Given the description of an element on the screen output the (x, y) to click on. 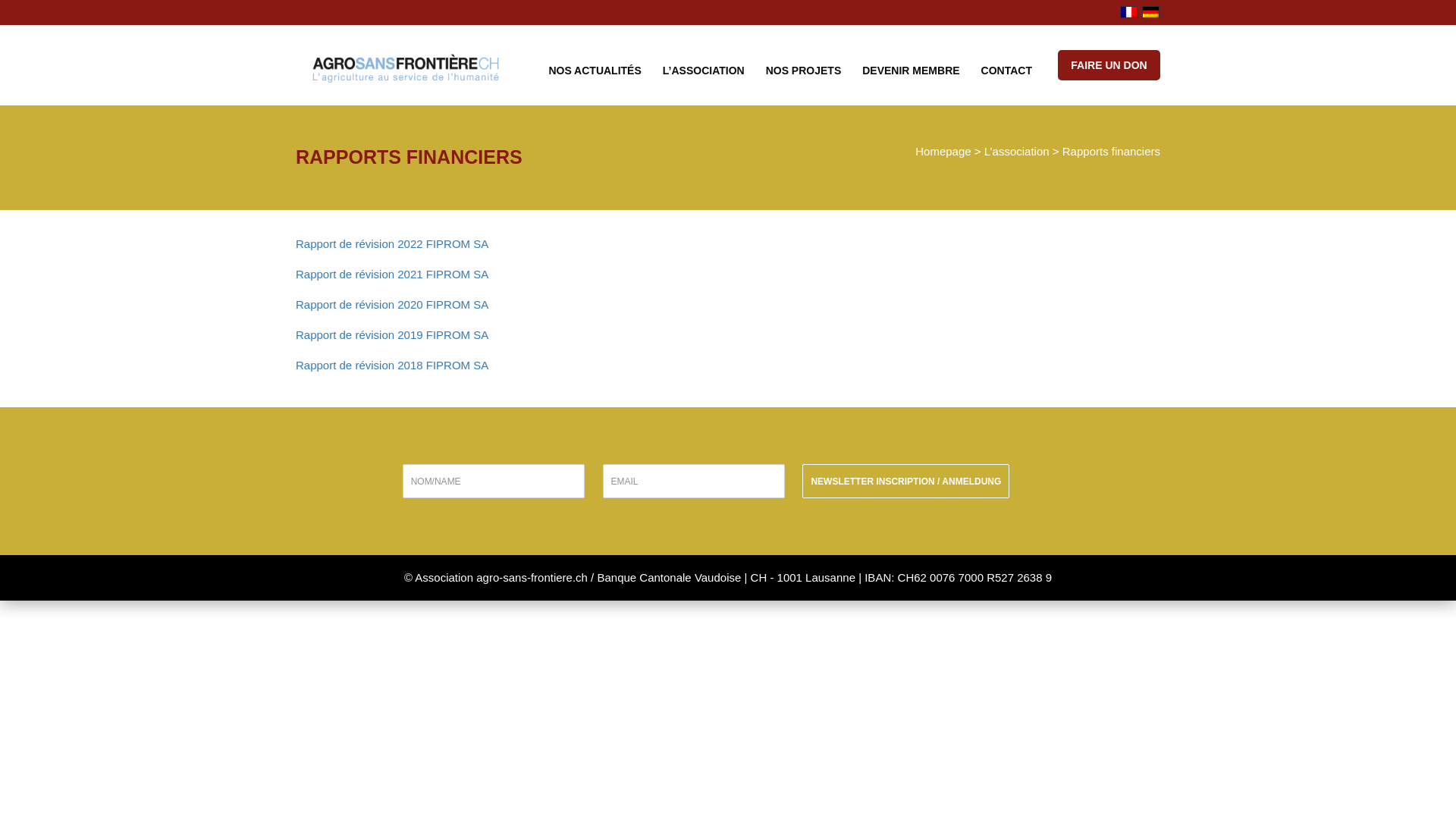
Homepage Element type: text (942, 150)
FAIRE UN DON Element type: text (1108, 65)
DEVENIR MEMBRE Element type: text (910, 68)
Newsletter Inscription / Anmeldung Element type: text (905, 481)
NOS PROJETS Element type: text (803, 68)
CONTACT Element type: text (1006, 68)
